Given the description of an element on the screen output the (x, y) to click on. 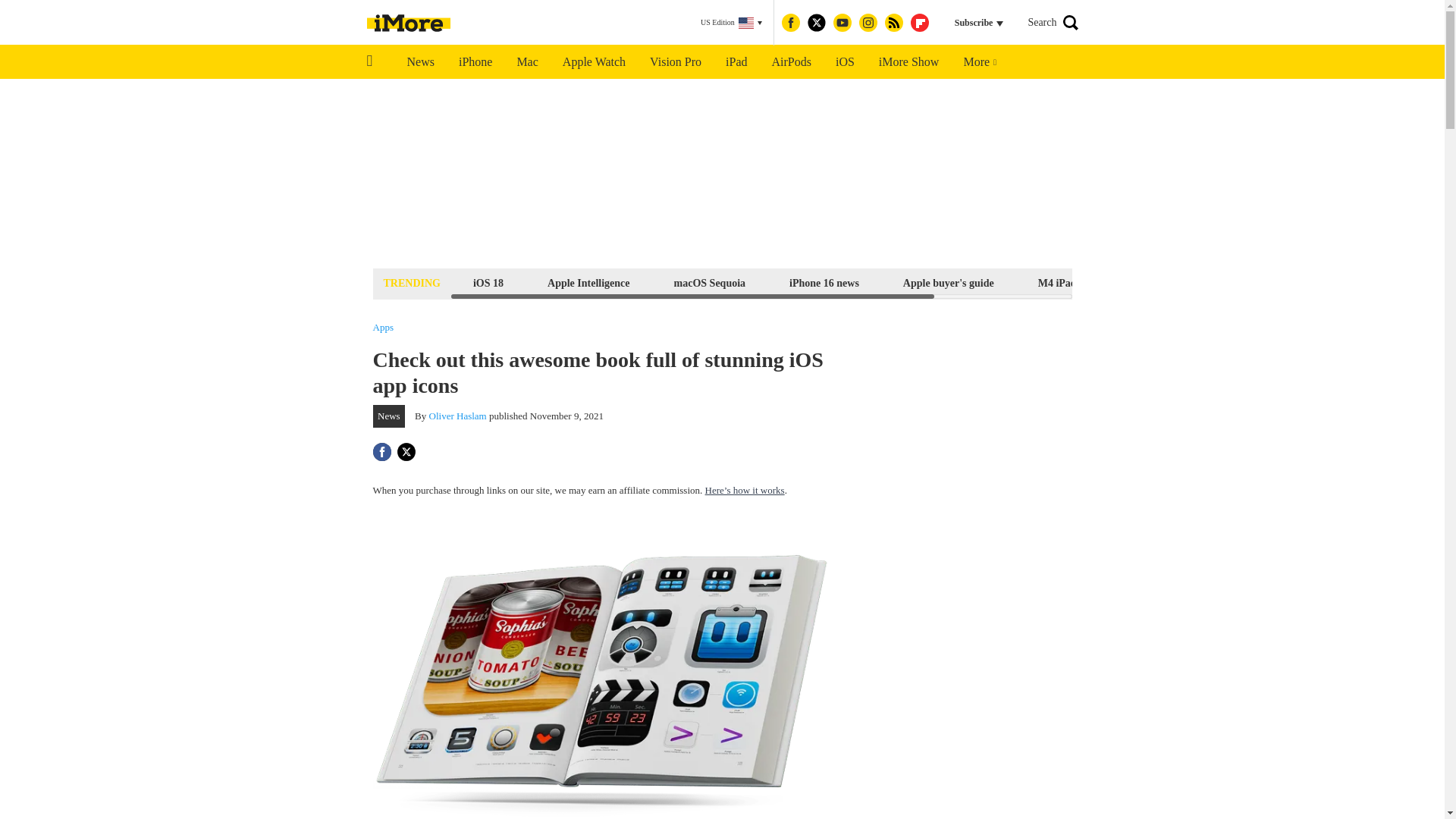
iMore Show (909, 61)
iOS (845, 61)
iPhone (474, 61)
Mac (526, 61)
News (419, 61)
Apple Watch (593, 61)
Vision Pro (675, 61)
AirPods (792, 61)
iPad (735, 61)
US Edition (731, 22)
